Given the description of an element on the screen output the (x, y) to click on. 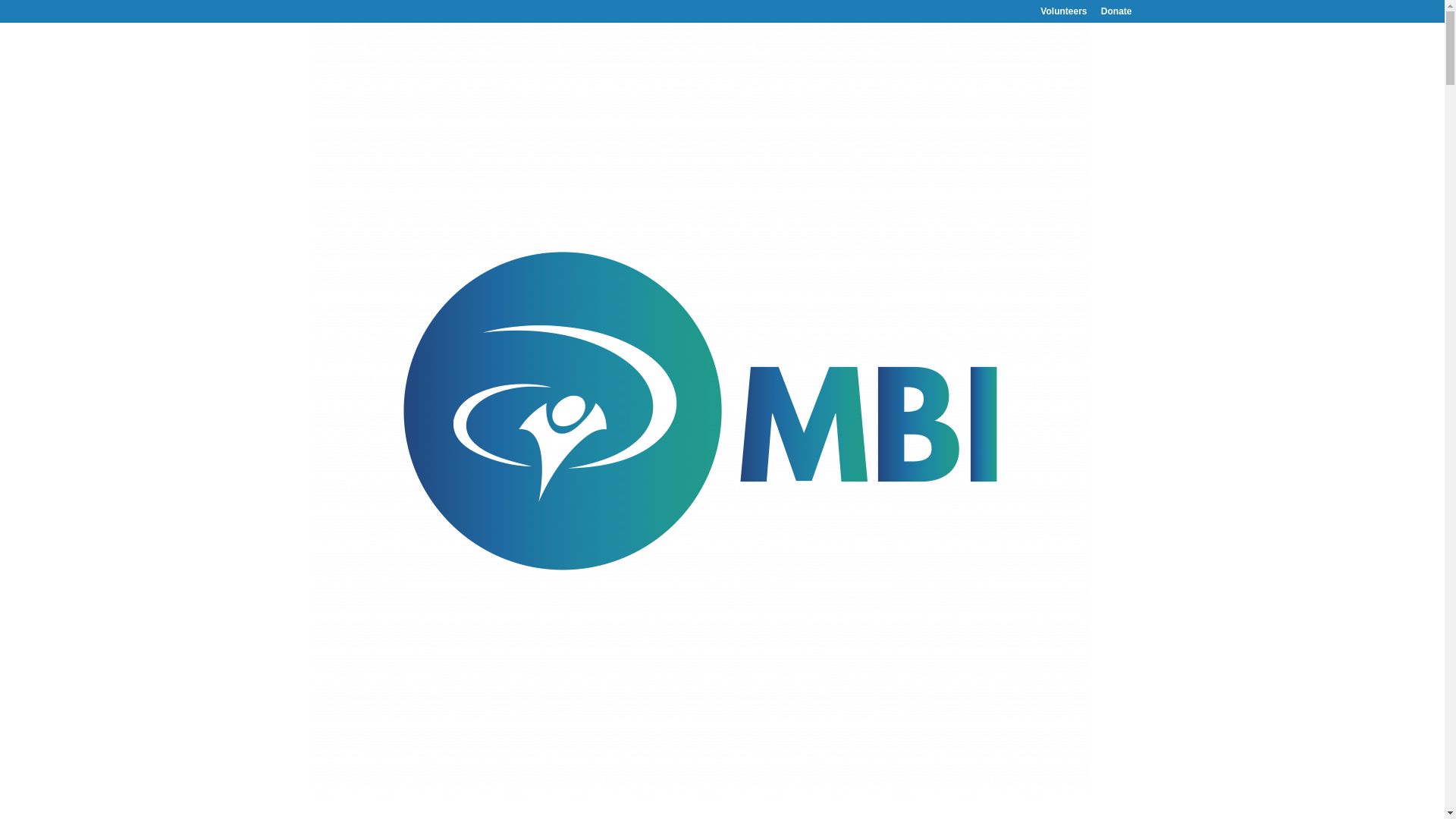
Forgiveness for a Thief (414, 698)
Volunteers (1063, 14)
Posts by Becky Hefty (355, 730)
Uncategorized (491, 730)
Becky Hefty (355, 730)
7 Characteristics That Distinguish Generation Z (614, 181)
Search (1106, 142)
YWAM Muizenburg (805, 816)
YWAM Berlin (572, 801)
YWAM Berlin (705, 816)
